Given the description of an element on the screen output the (x, y) to click on. 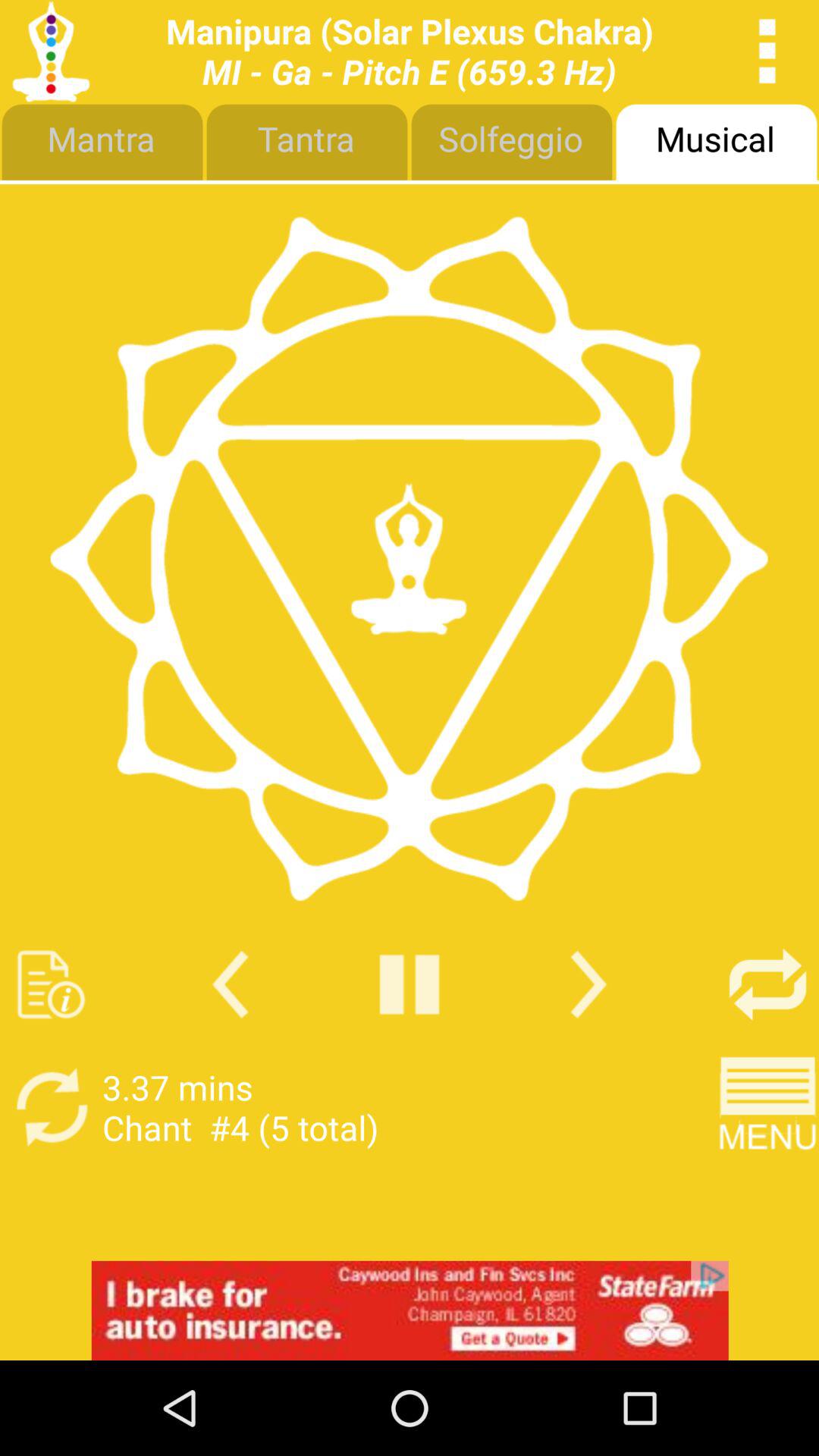
repeat track (767, 984)
